Given the description of an element on the screen output the (x, y) to click on. 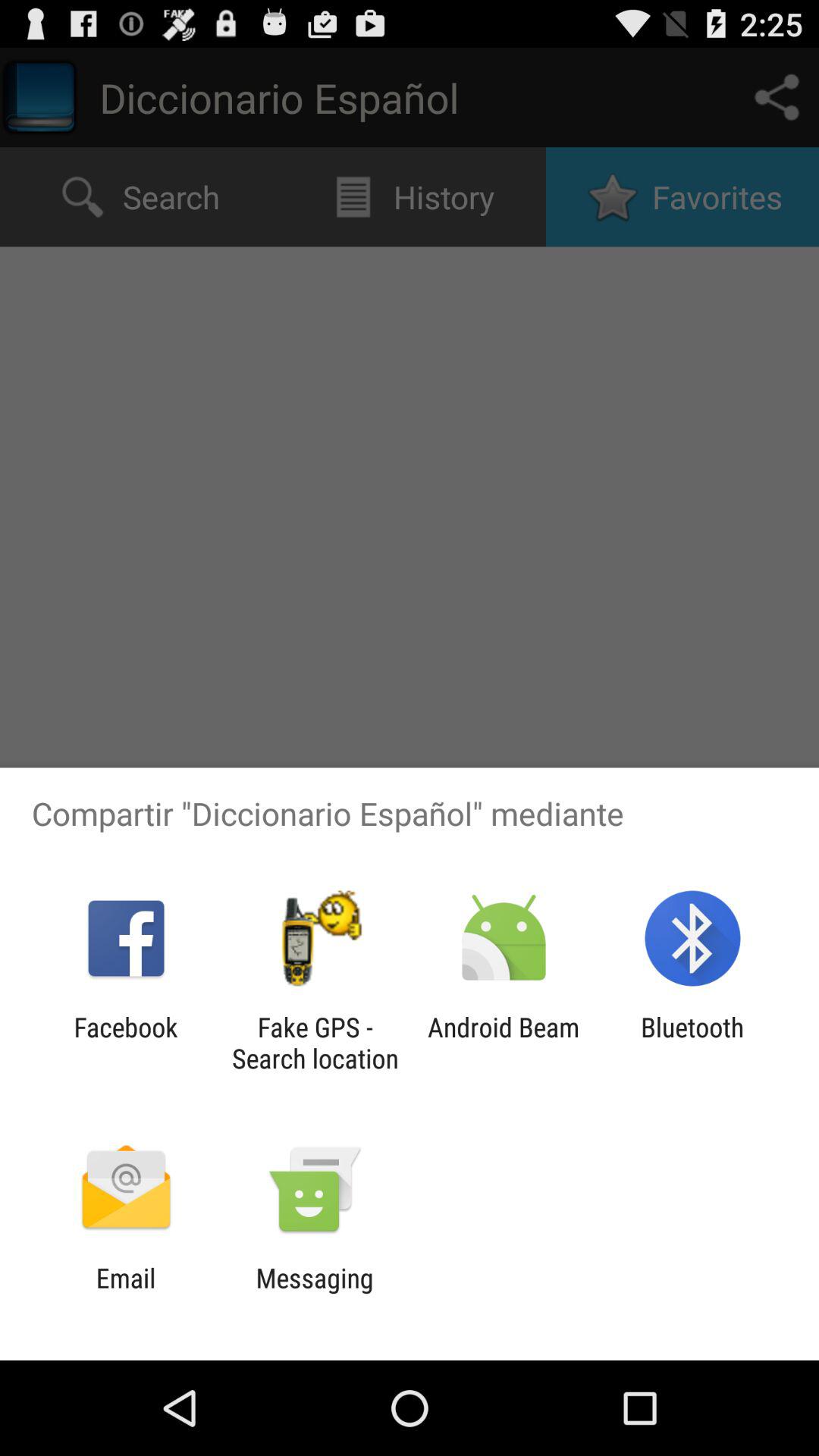
tap the app at the bottom right corner (691, 1042)
